Given the description of an element on the screen output the (x, y) to click on. 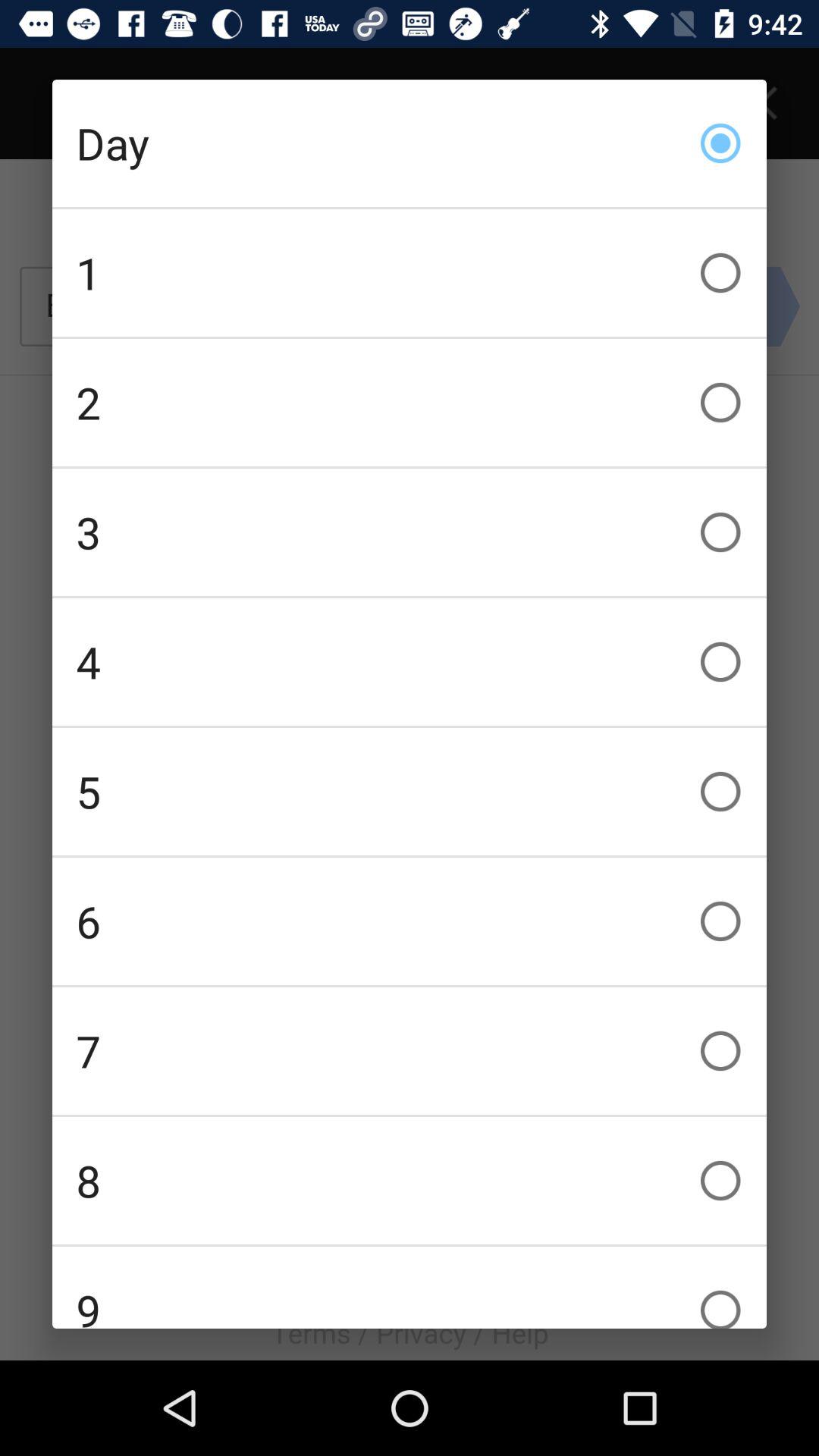
launch the 3 (409, 532)
